Given the description of an element on the screen output the (x, y) to click on. 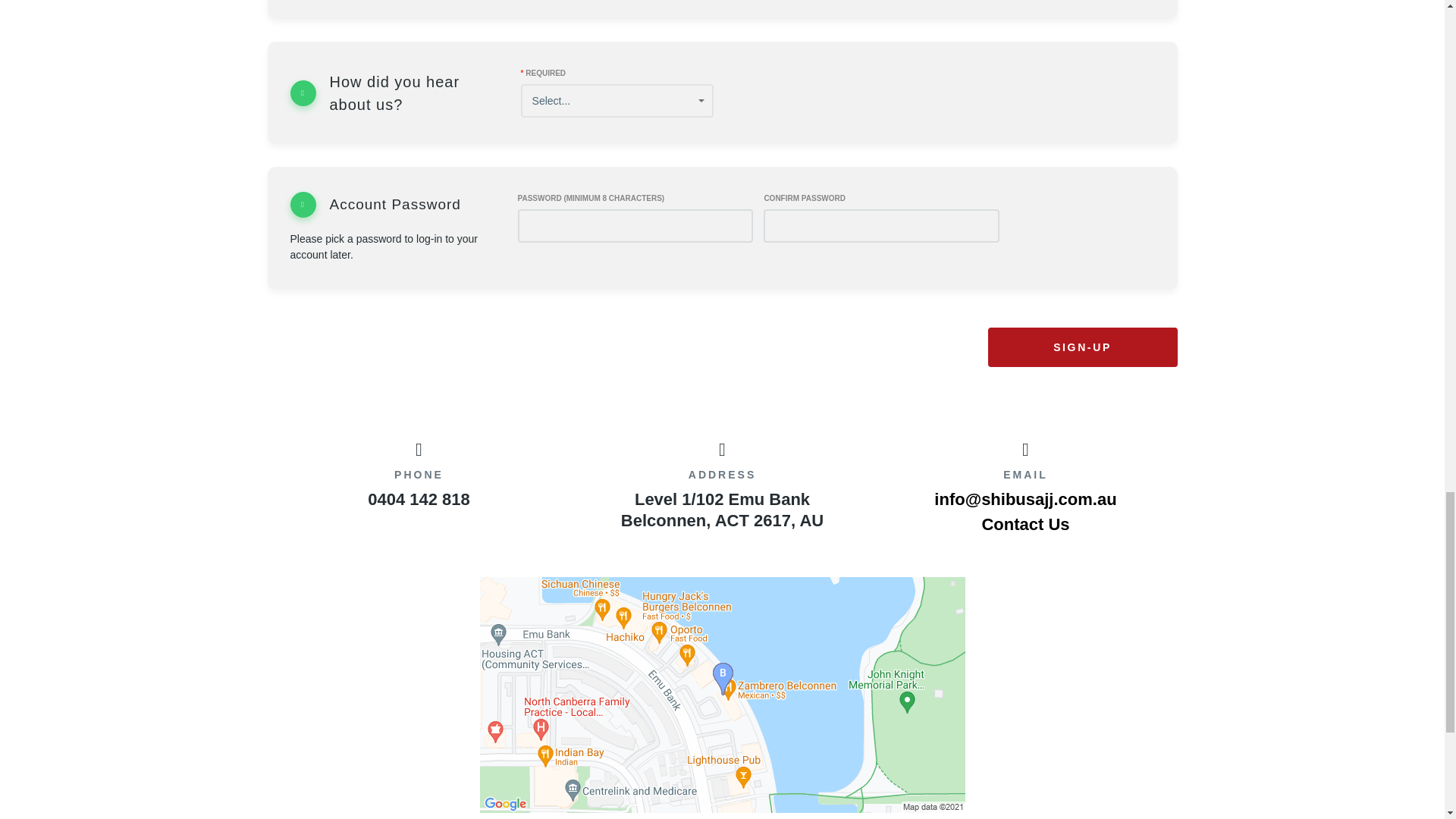
Contact Us (1024, 524)
SIGN-UP (1081, 346)
